Given the description of an element on the screen output the (x, y) to click on. 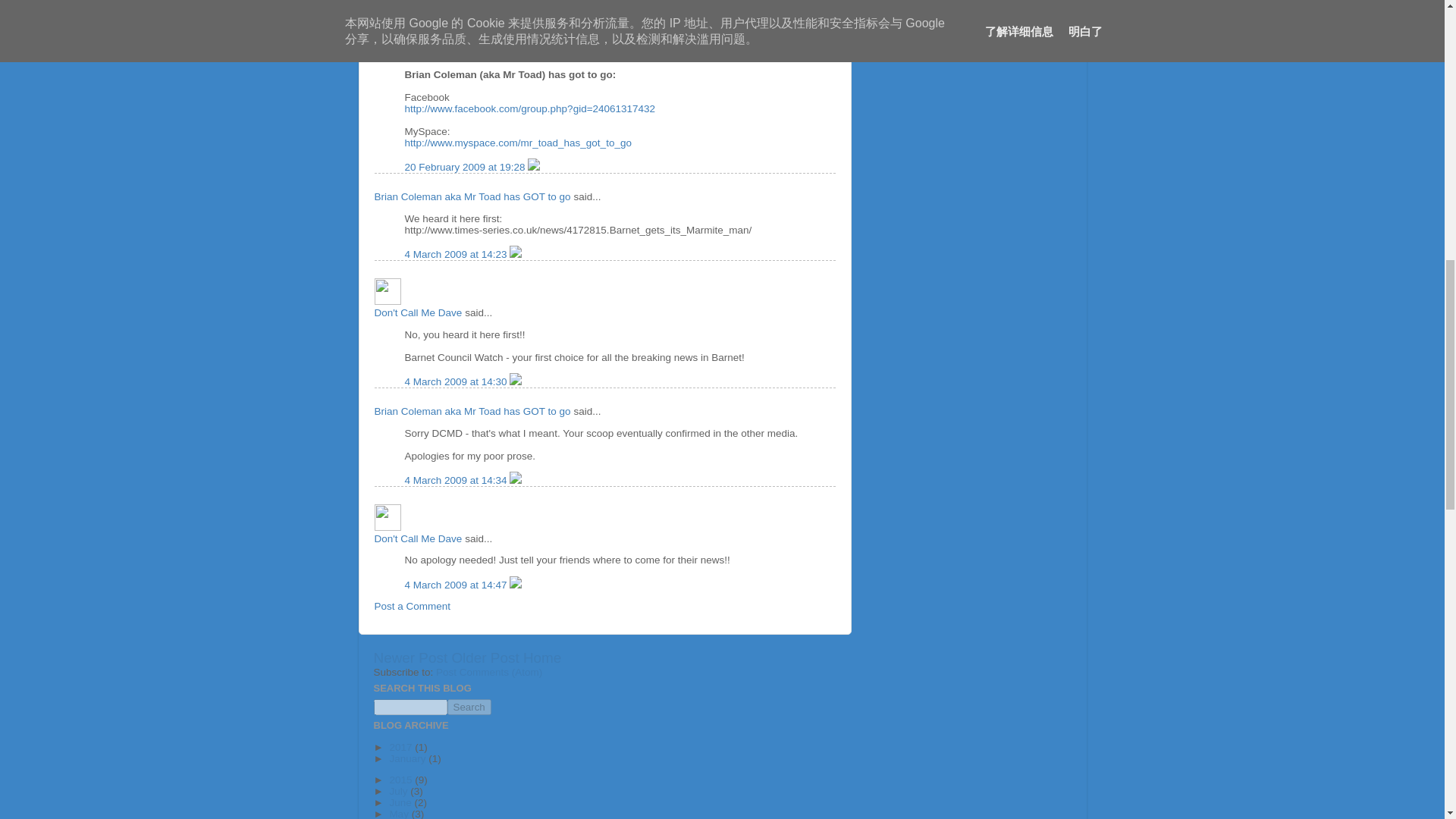
4 March 2009 at 14:30 (457, 381)
Brian Coleman aka Mr Toad has GOT to go (472, 410)
Brian Coleman aka Mr Toad has GOT to go (472, 196)
Delete Comment (515, 254)
comment permalink (466, 166)
Search (469, 706)
Search (469, 706)
20 February 2009 at 19:28 (466, 166)
Don't Call Me Dave (418, 312)
Delete Comment (533, 166)
4 March 2009 at 14:34 (457, 480)
4 March 2009 at 14:23 (457, 254)
comment permalink (457, 254)
Don't Call Me Dave (418, 538)
